Given the description of an element on the screen output the (x, y) to click on. 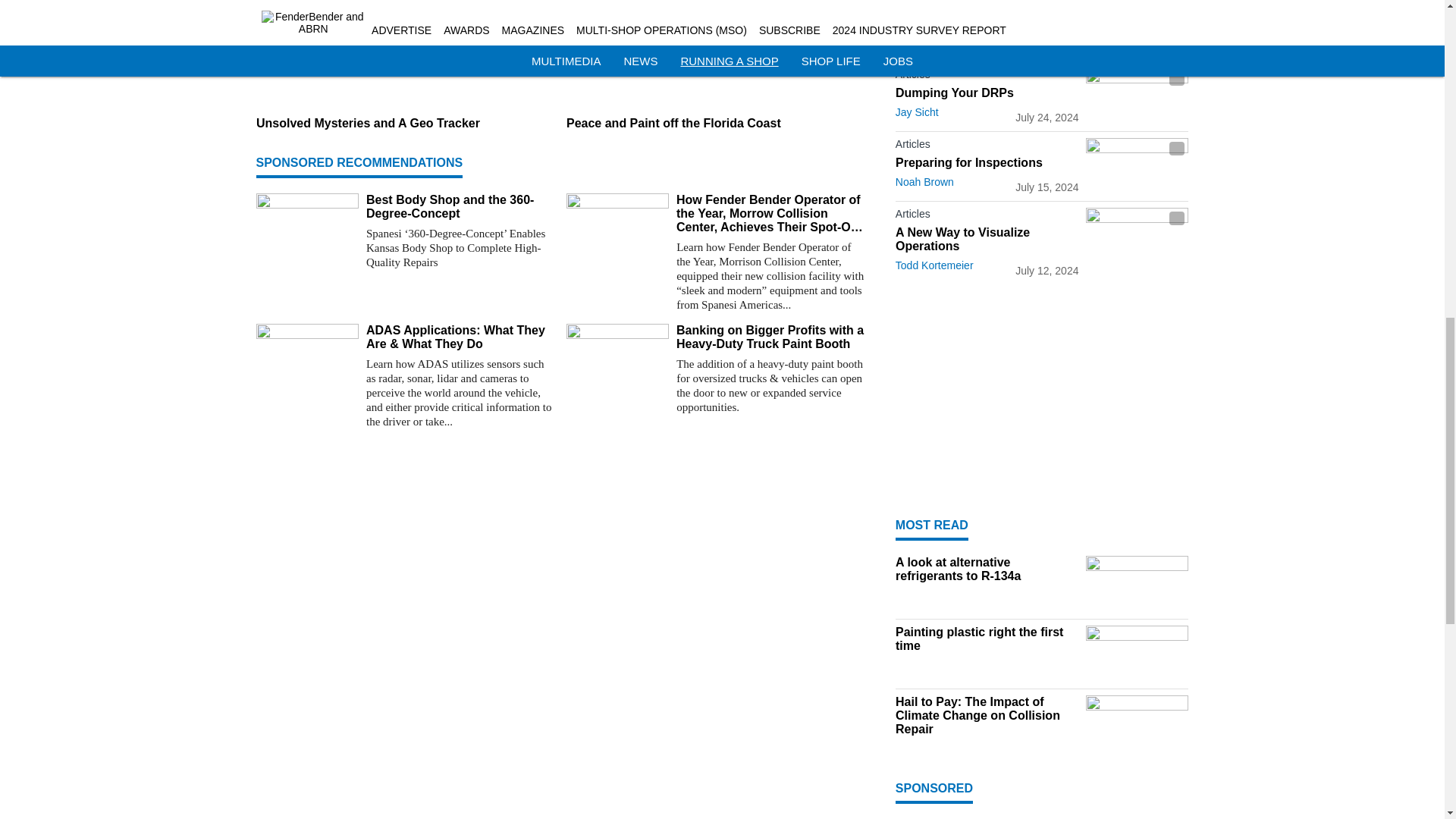
Peace and Paint off the Florida Coast (715, 123)
Preparing for Inspections (986, 162)
Dumping Your DRPs (986, 92)
Articles (986, 147)
Articles (986, 76)
Unsolved Mysteries and A Geo Tracker (405, 123)
Jay Sicht (917, 111)
Best Body Shop and the 360-Degree-Concept (459, 206)
